Given the description of an element on the screen output the (x, y) to click on. 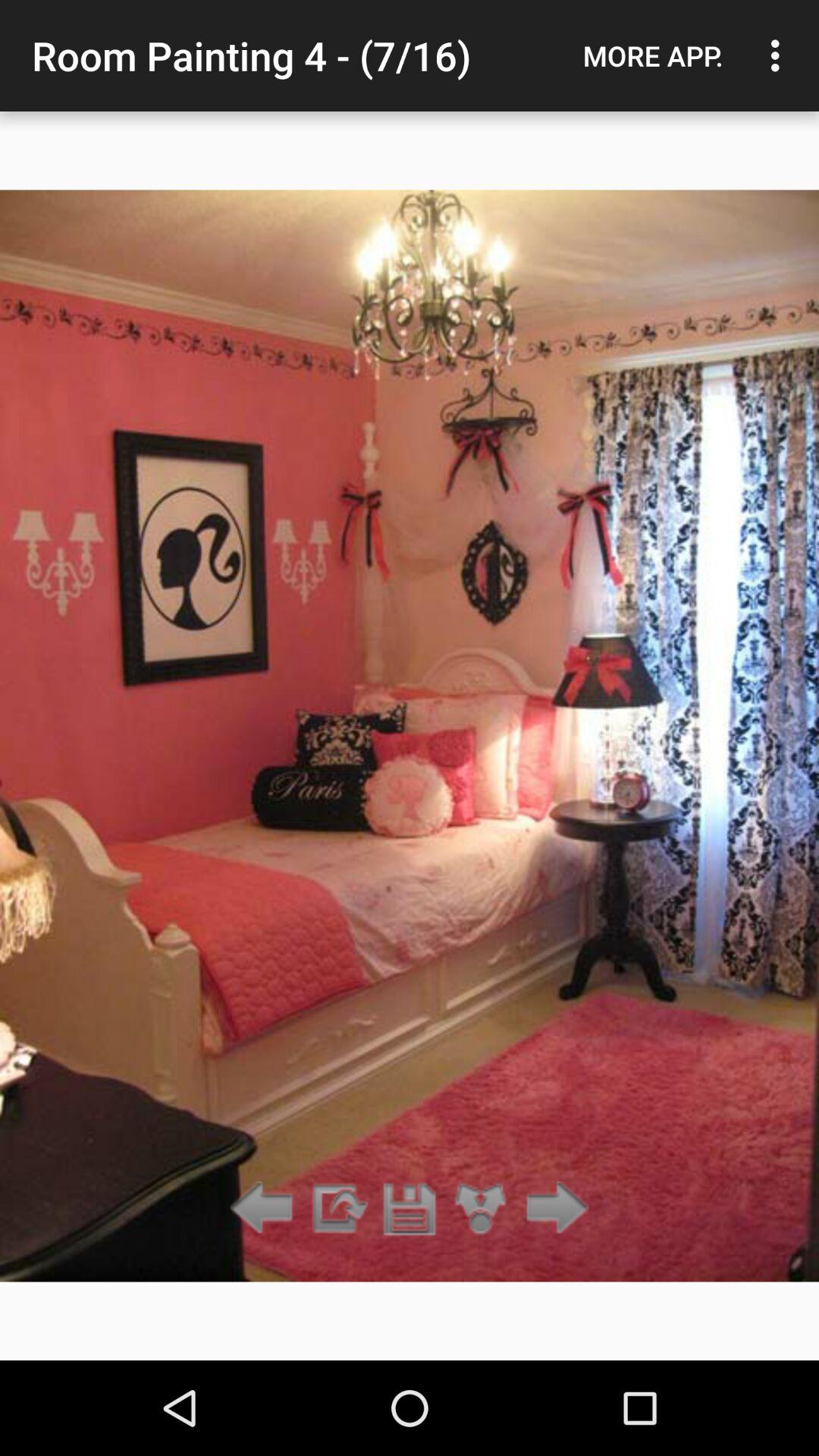
zoom in on photo (480, 1208)
